Given the description of an element on the screen output the (x, y) to click on. 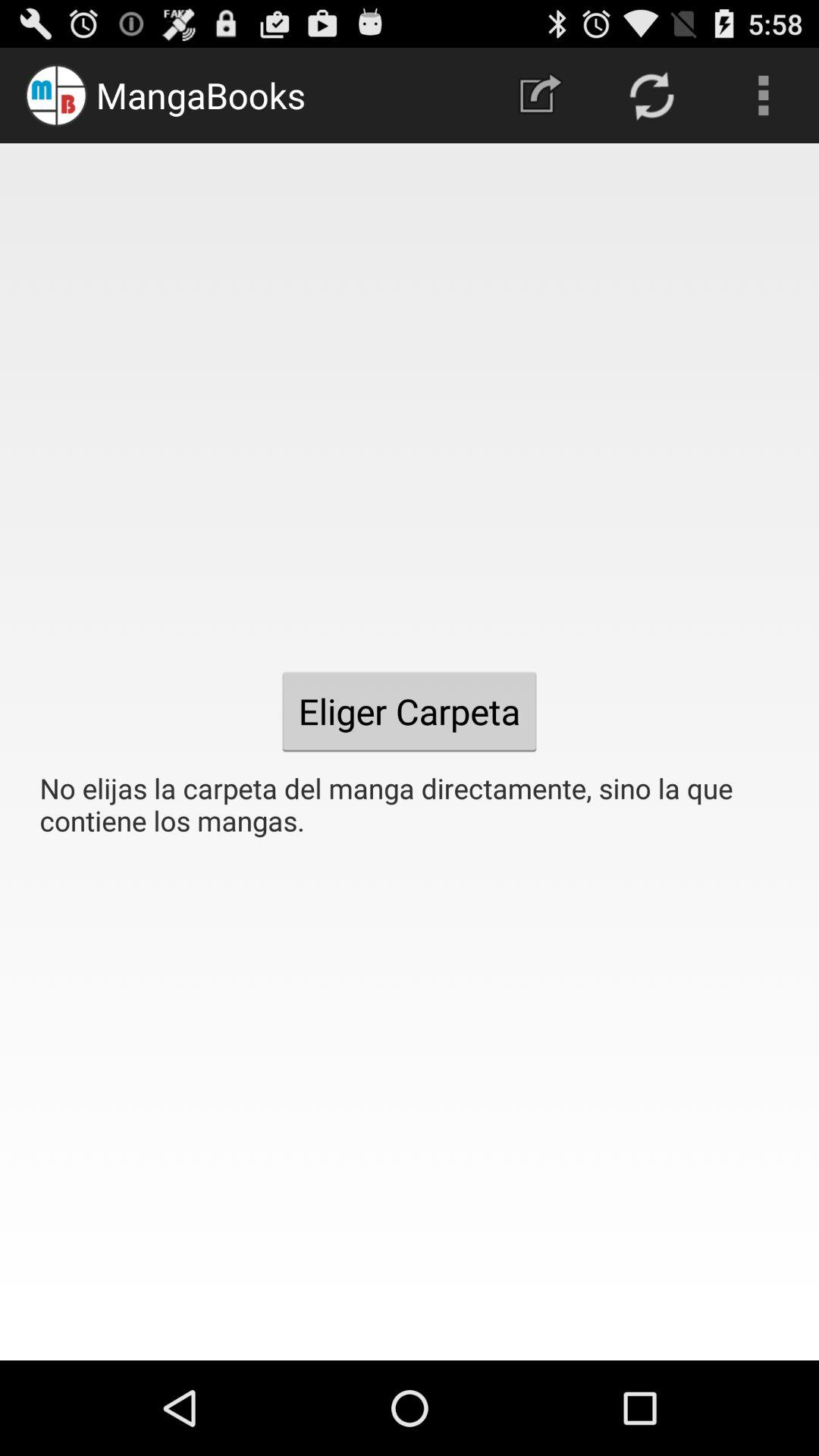
choose the icon at the top (540, 95)
